Given the description of an element on the screen output the (x, y) to click on. 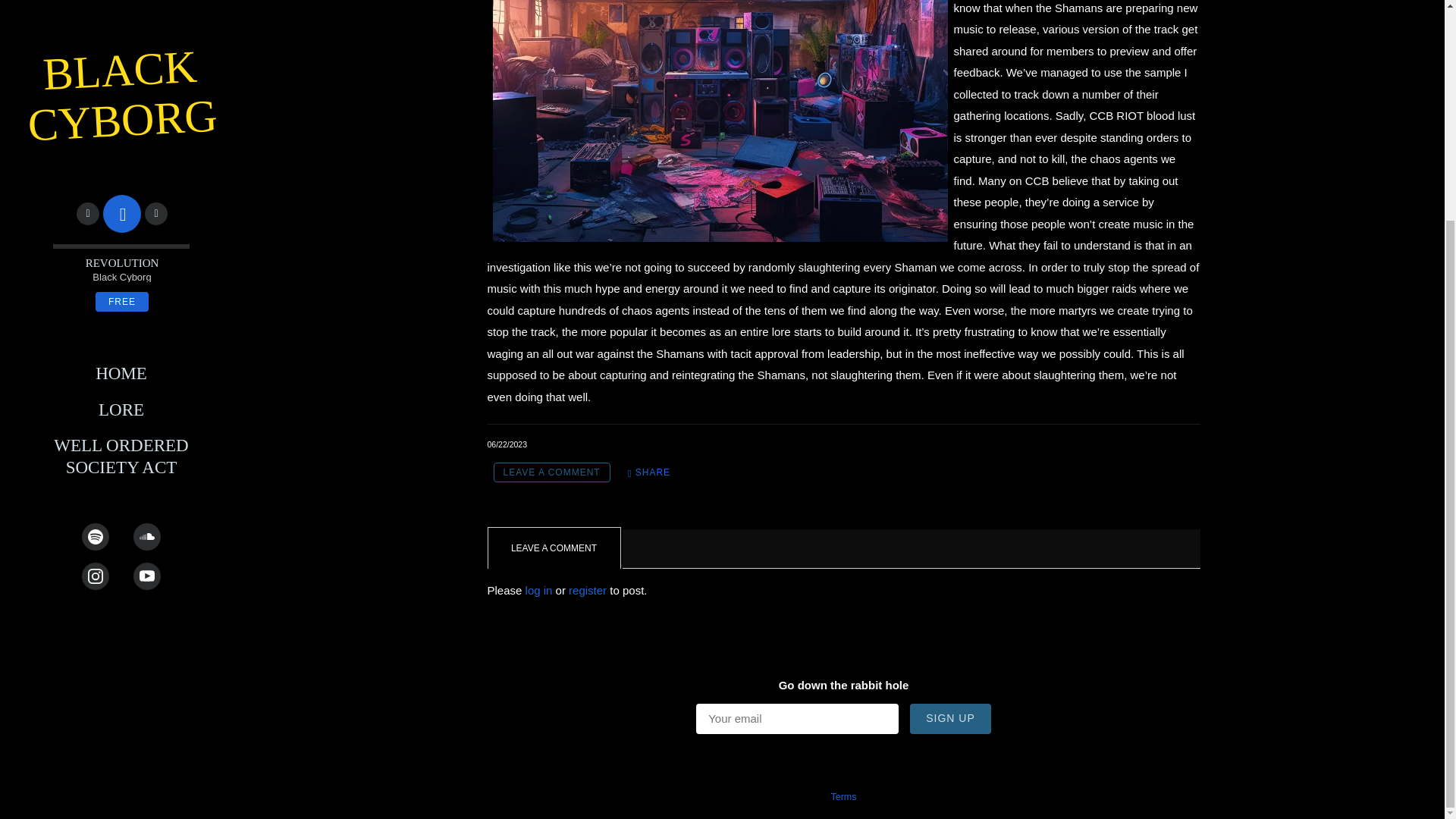
HOME (121, 81)
FREE (122, 9)
LORE (121, 118)
